Given the description of an element on the screen output the (x, y) to click on. 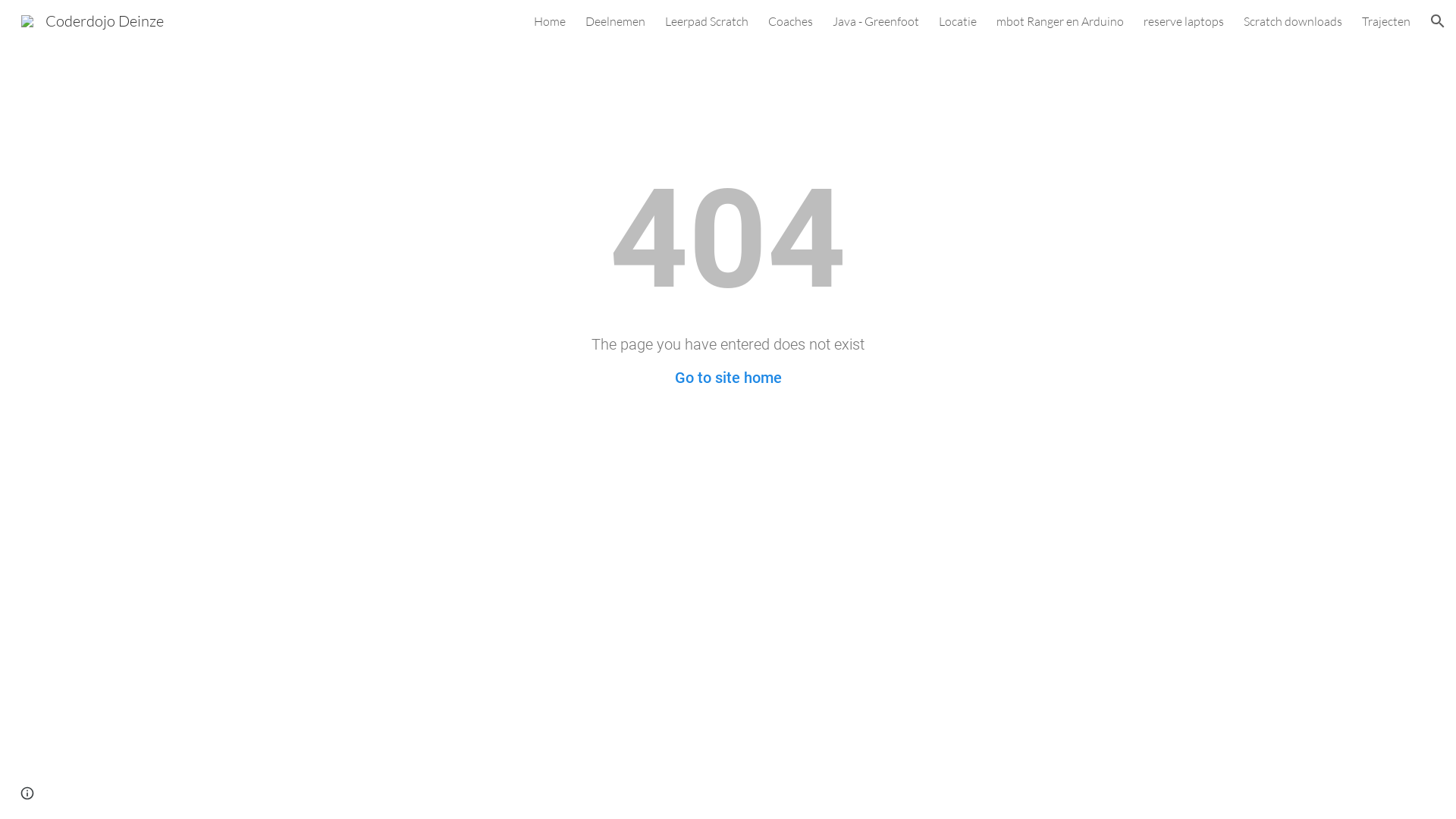
Deelnemen Element type: text (615, 20)
Java - Greenfoot Element type: text (875, 20)
Leerpad Scratch Element type: text (706, 20)
Trajecten Element type: text (1385, 20)
Coderdojo Deinze Element type: text (92, 18)
Scratch downloads Element type: text (1292, 20)
Home Element type: text (549, 20)
reserve laptops Element type: text (1183, 20)
Go to site home Element type: text (727, 377)
mbot Ranger en Arduino Element type: text (1059, 20)
Locatie Element type: text (957, 20)
Coaches Element type: text (790, 20)
